Given the description of an element on the screen output the (x, y) to click on. 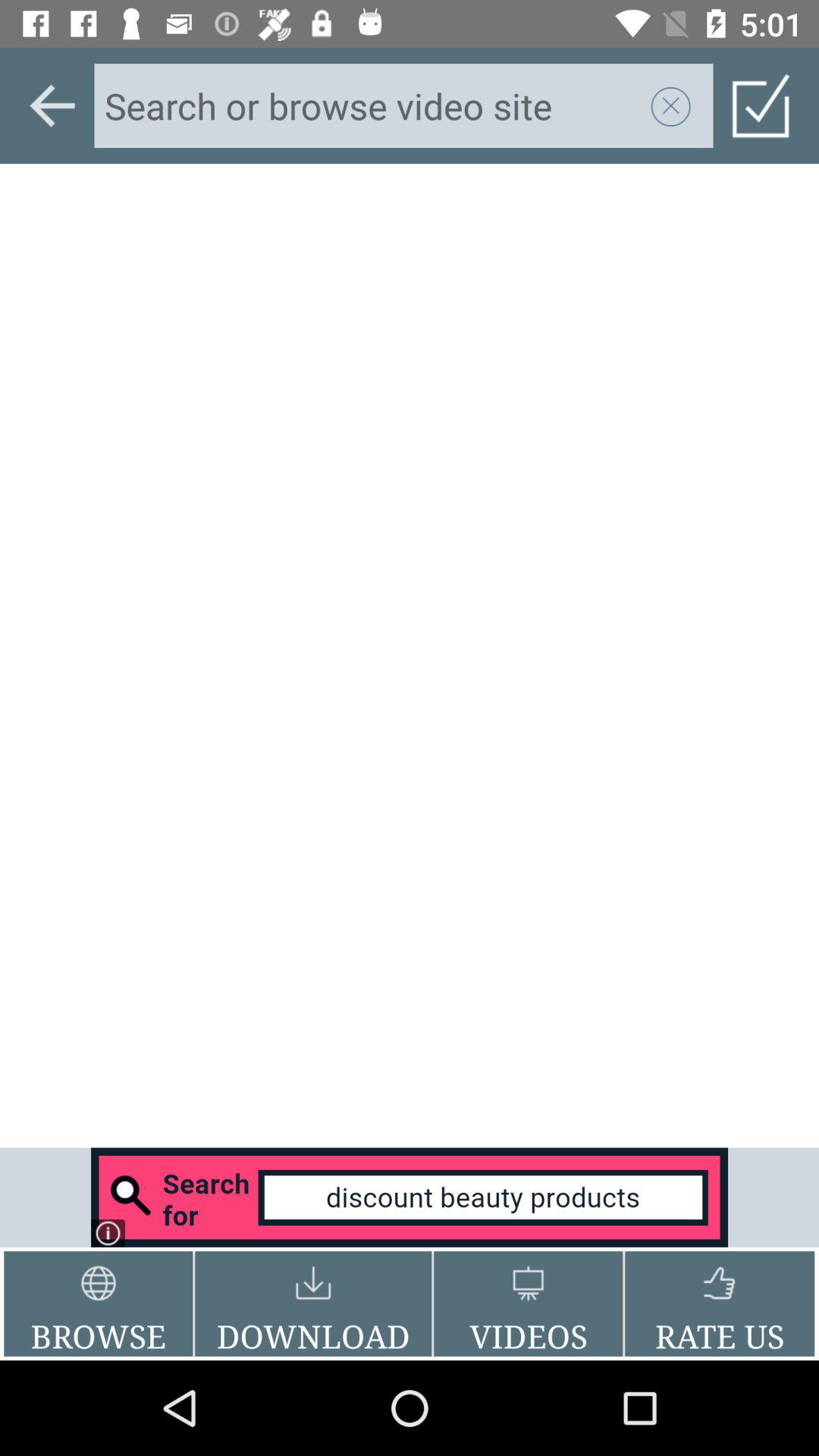
open the videos item (527, 1303)
